Given the description of an element on the screen output the (x, y) to click on. 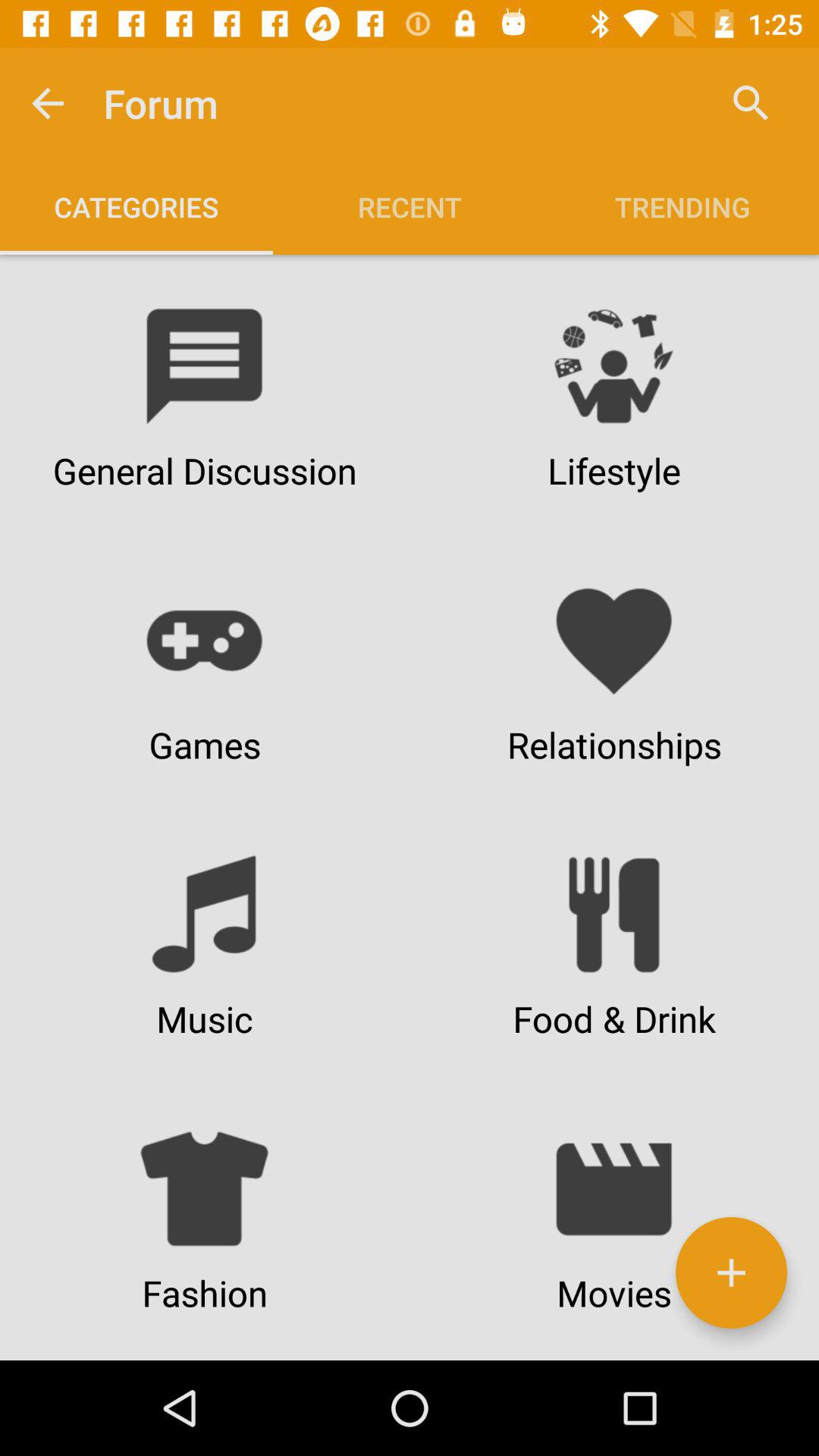
turn on icon next to forum item (47, 103)
